Given the description of an element on the screen output the (x, y) to click on. 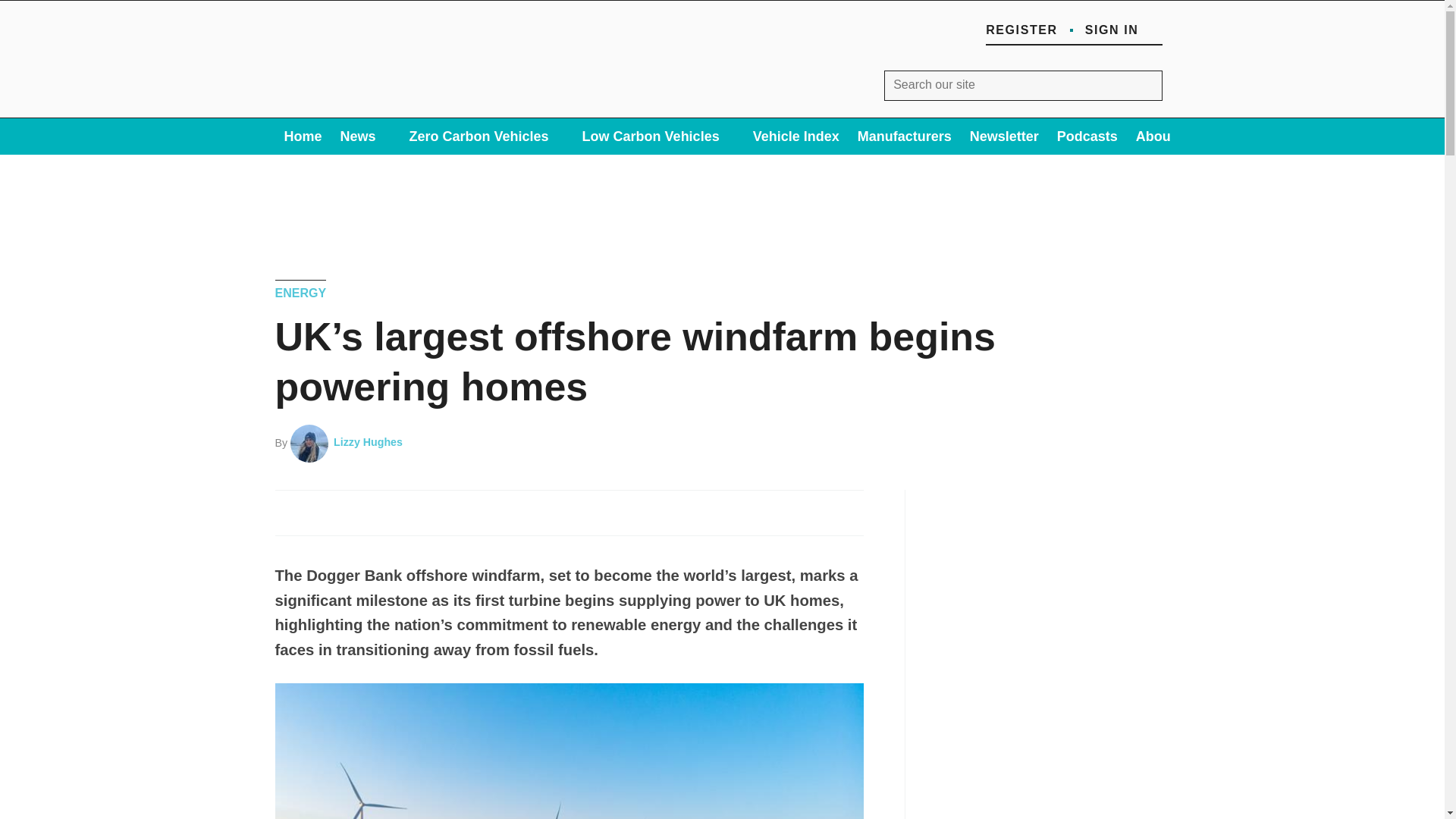
SIGN IN (1122, 29)
SEARCH (1146, 85)
Home (302, 135)
Share this on Twitter (322, 511)
Share this on Facebook (288, 511)
Email this article (391, 511)
News (365, 135)
REGISTER (1021, 29)
Share this on Linked in (356, 511)
Site name (374, 102)
